Given the description of an element on the screen output the (x, y) to click on. 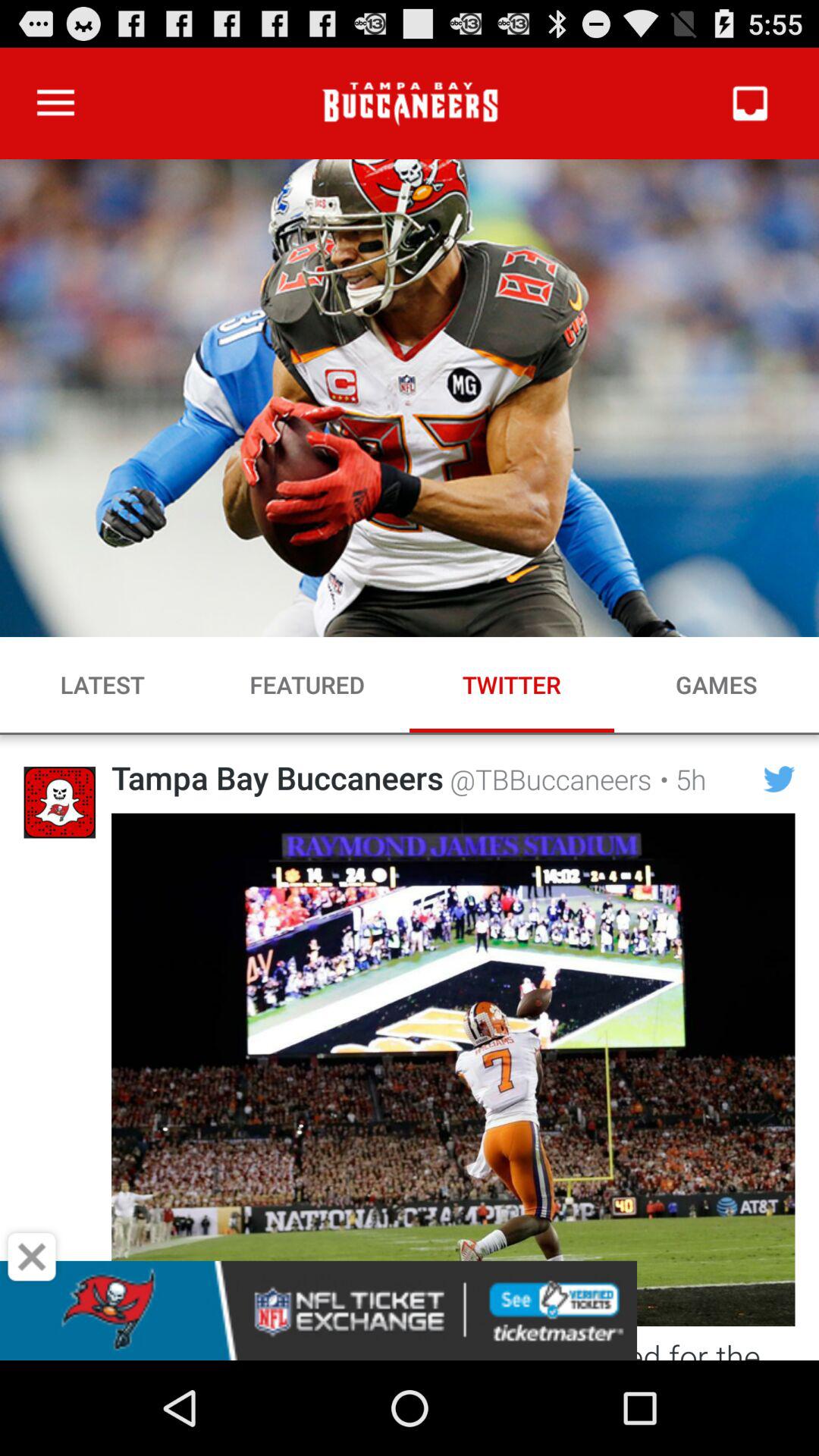
adverts display (409, 1310)
